Given the description of an element on the screen output the (x, y) to click on. 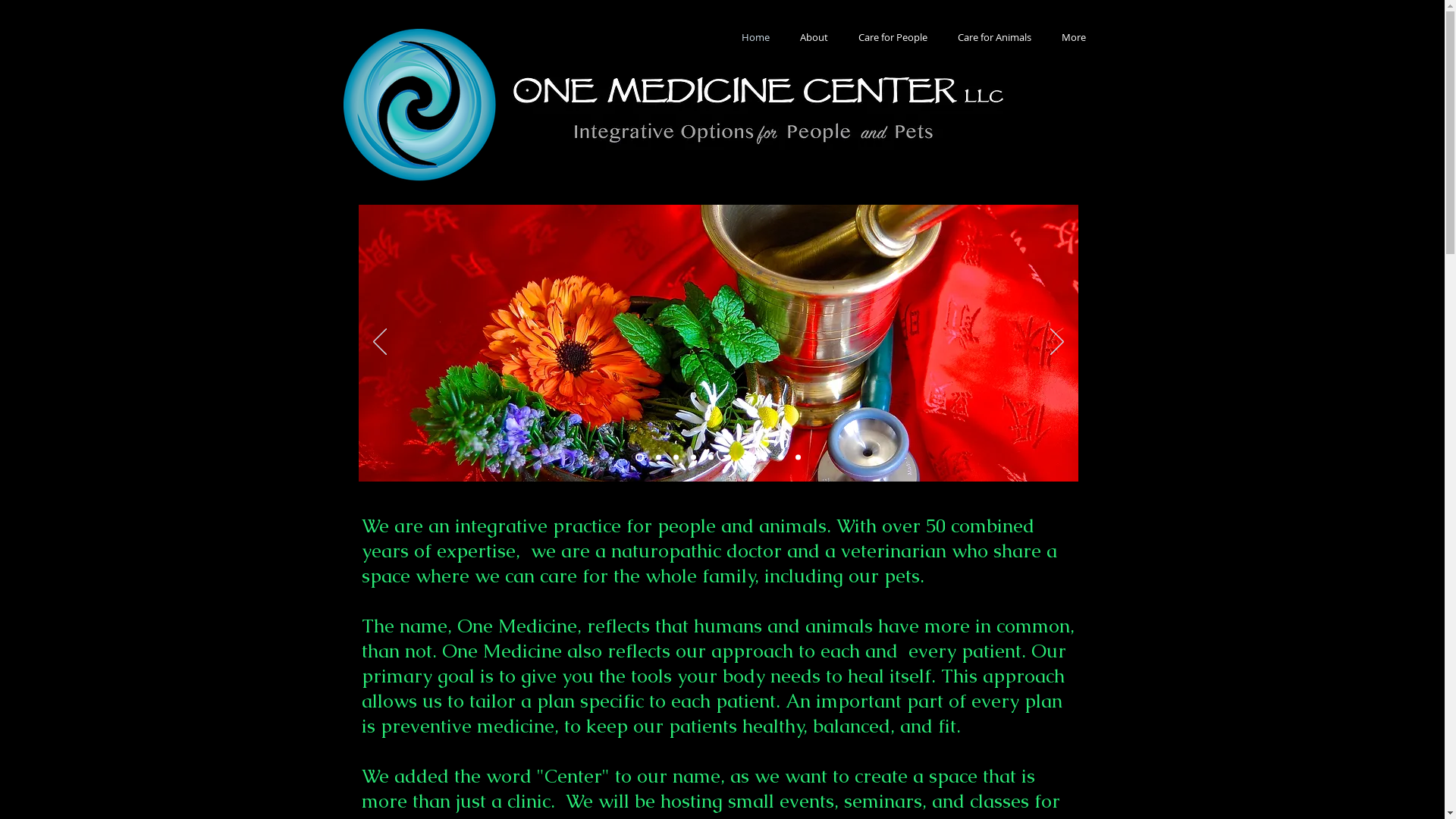
Home Element type: text (755, 37)
Care for People Element type: text (892, 37)
About Element type: text (813, 37)
Care for Animals Element type: text (993, 37)
